Given the description of an element on the screen output the (x, y) to click on. 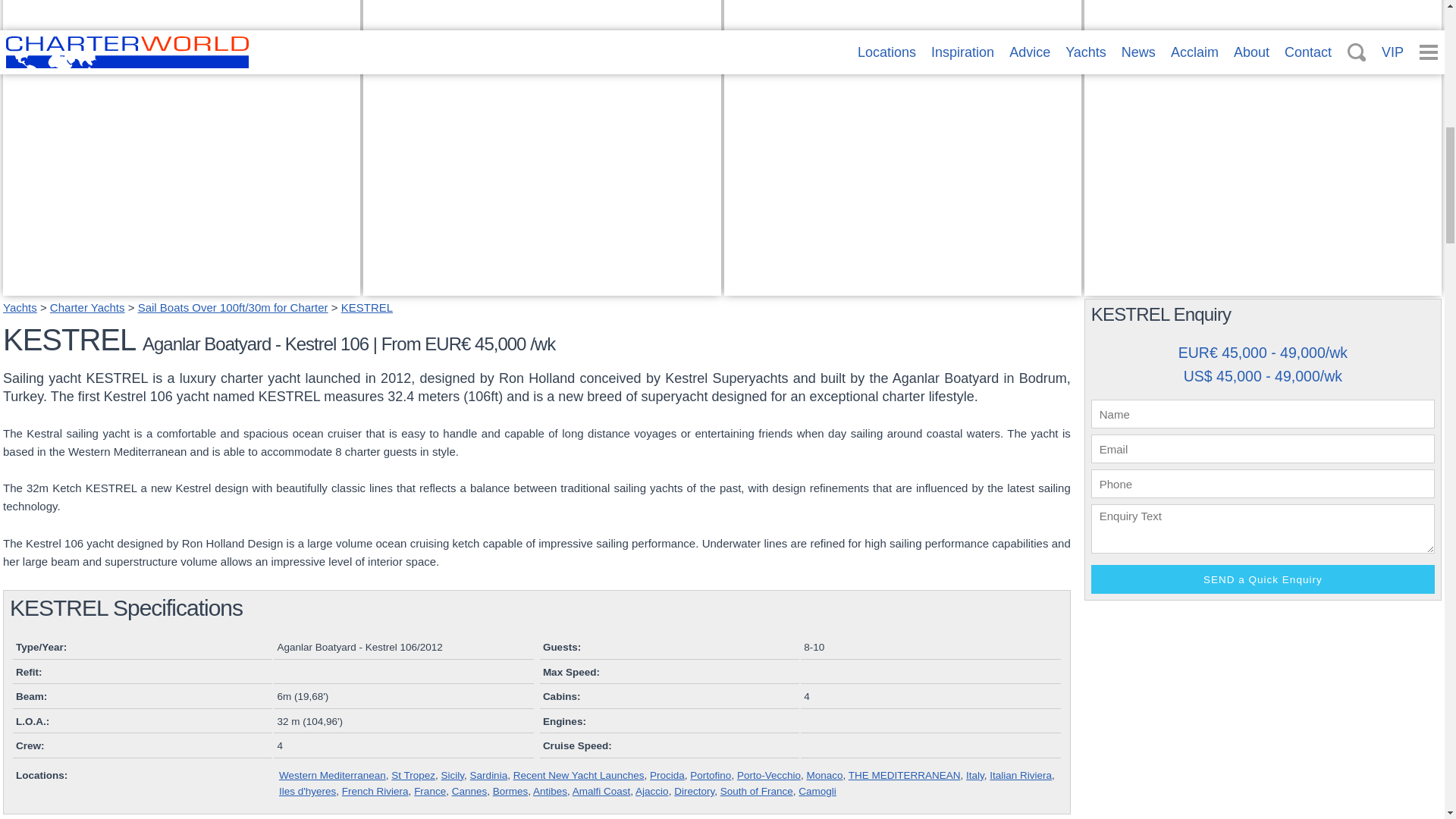
Italian Riviera (1020, 775)
Two very different 30m sailing ... (820, 268)
St Tropez (413, 775)
ALEXA OF LONDON (1151, 268)
Charter Yachts (87, 307)
KESTREL (366, 307)
Two very different 30m sailing ... (901, 286)
Portofino (710, 775)
Western Mediterranean (332, 775)
Sicily (452, 775)
